Given the description of an element on the screen output the (x, y) to click on. 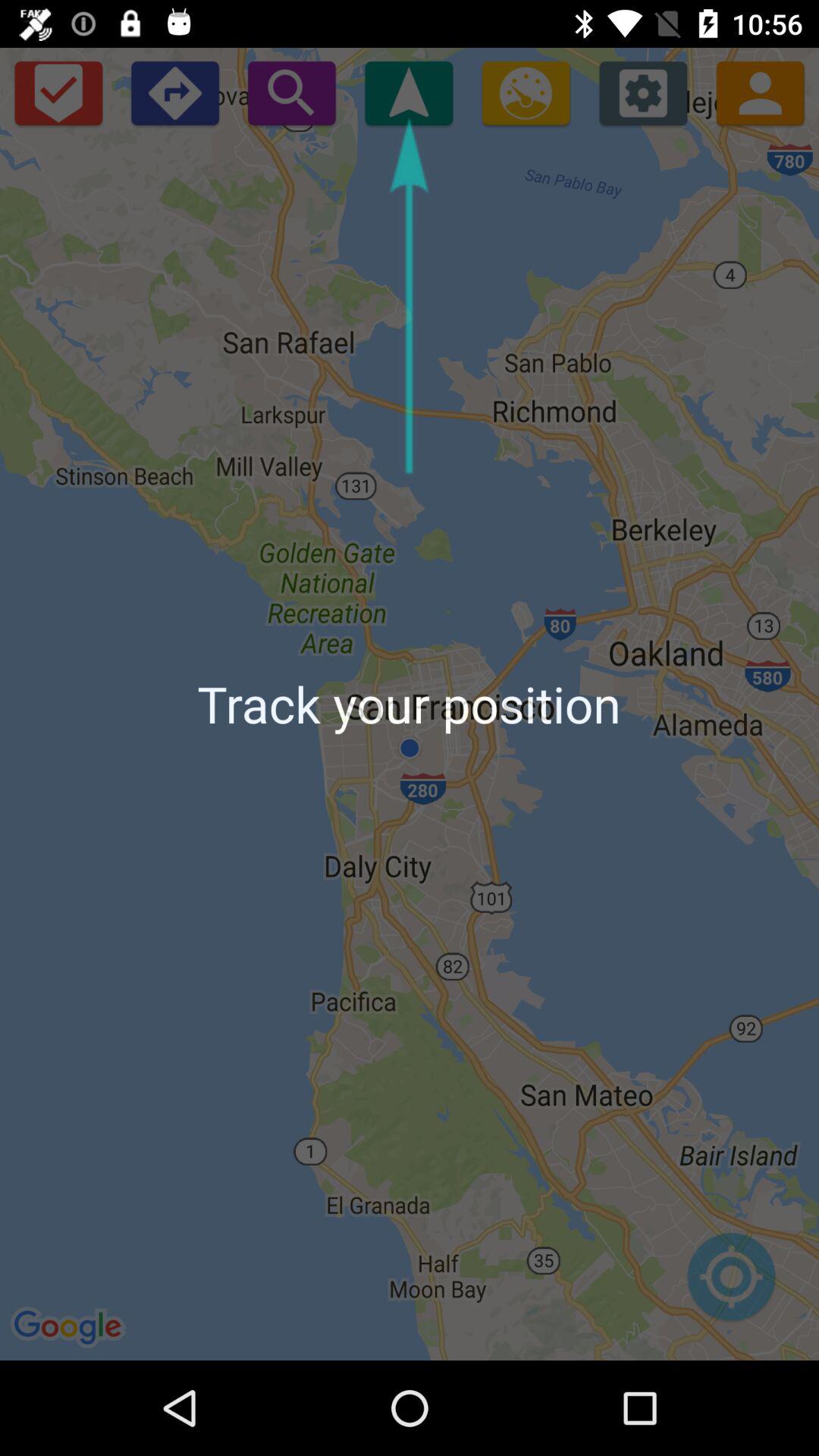
search new position (291, 92)
